Given the description of an element on the screen output the (x, y) to click on. 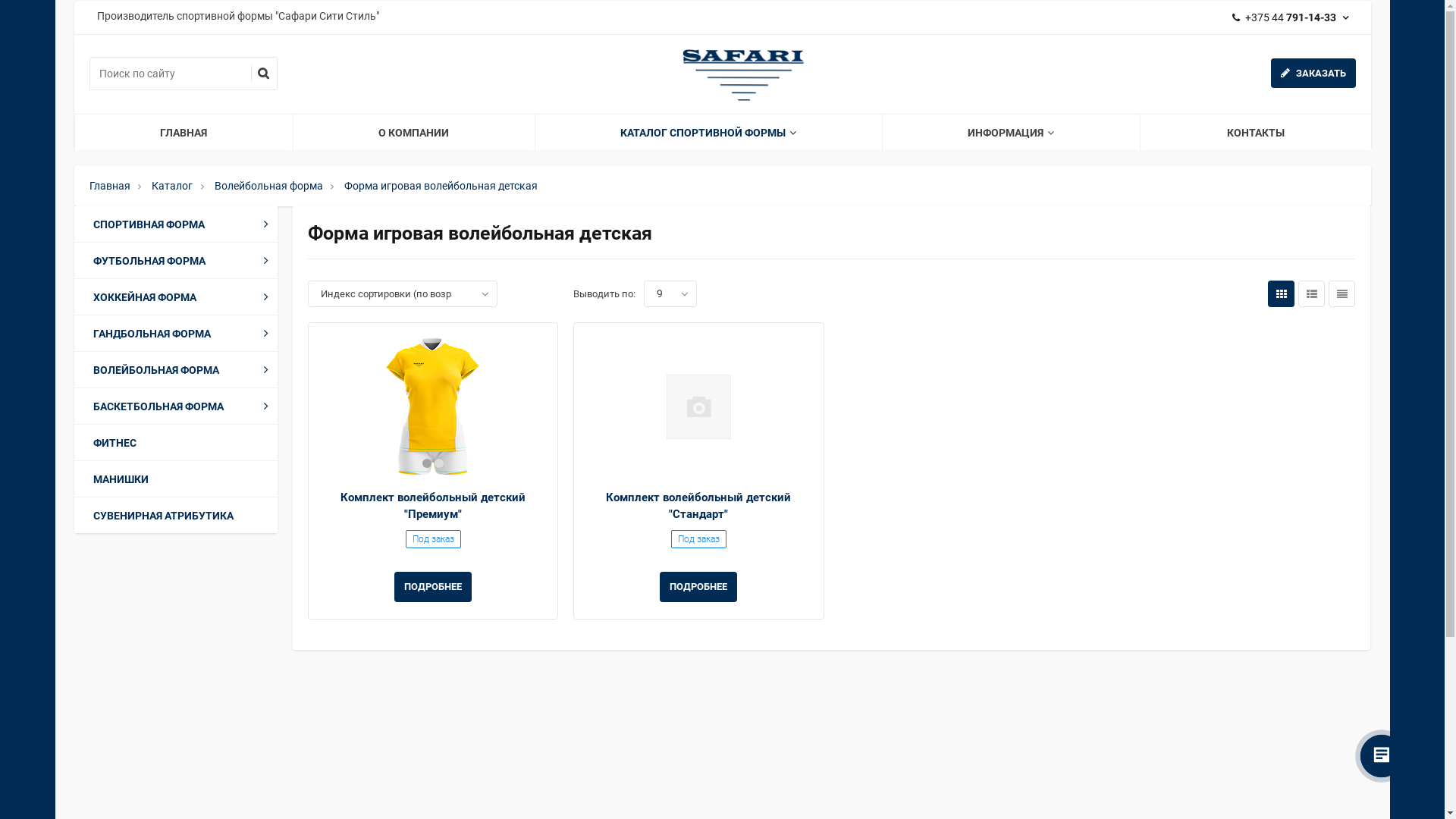
1 Element type: text (426, 462)
2 Element type: text (438, 462)
+375 44 791-14-33 Element type: text (1292, 17)
